Given the description of an element on the screen output the (x, y) to click on. 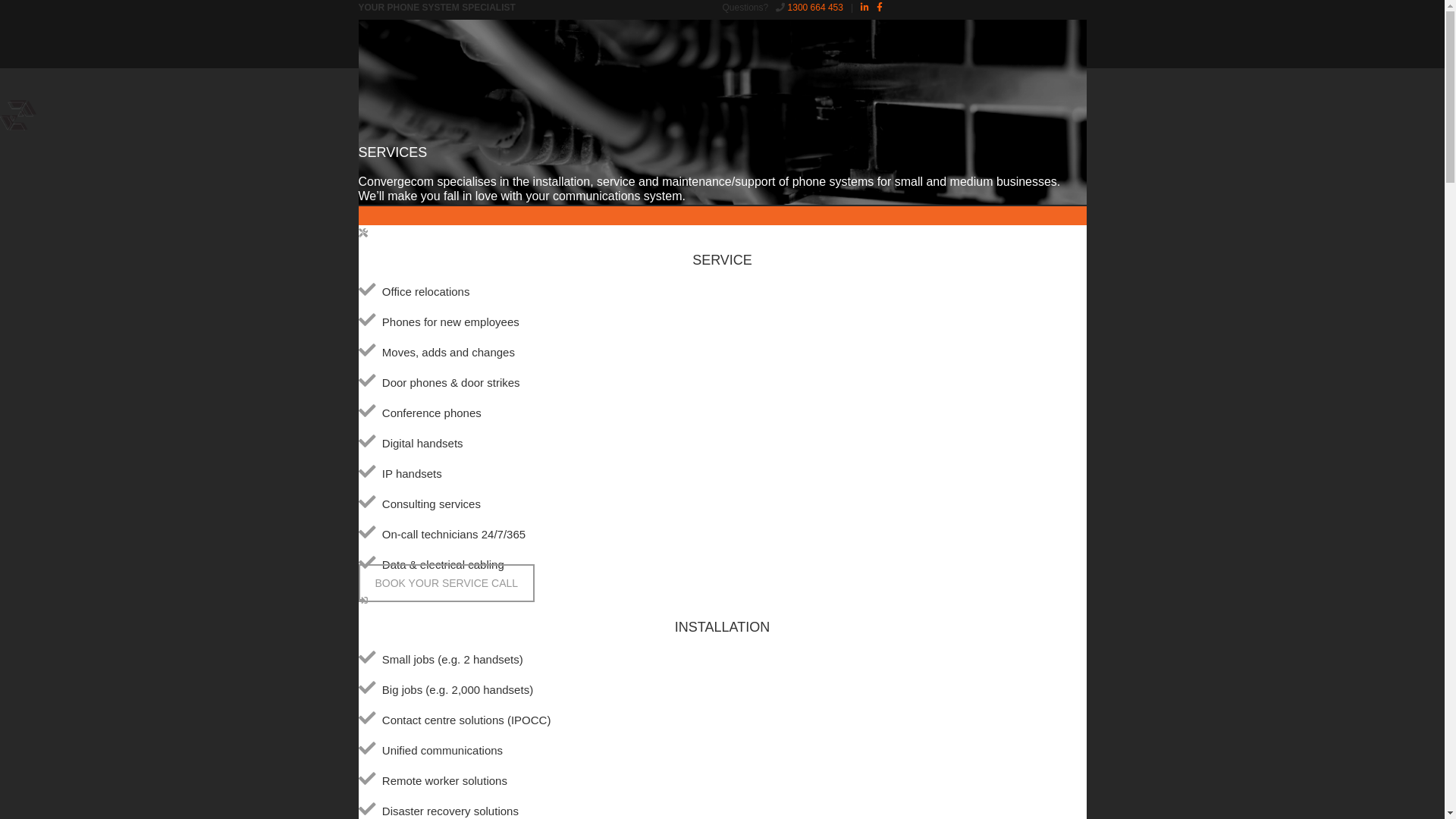
CONVERGECOM Element type: text (394, 41)
ABOUT Element type: text (427, 79)
SERVICES Element type: text (485, 79)
HELP Element type: text (537, 79)
Click here for
CLOUD HOSTED
SOLUTIONS Element type: text (948, 67)
1300 664 453 Element type: text (815, 7)
LinkedIn Element type: hover (864, 7)
BOOK YOUR SERVICE CALL Element type: text (445, 583)
CONVERGECOM Element type: hover (18, 127)
Facebook Element type: hover (879, 7)
HOME Element type: text (380, 79)
GET IN TOUCH Element type: text (600, 79)
